Given the description of an element on the screen output the (x, y) to click on. 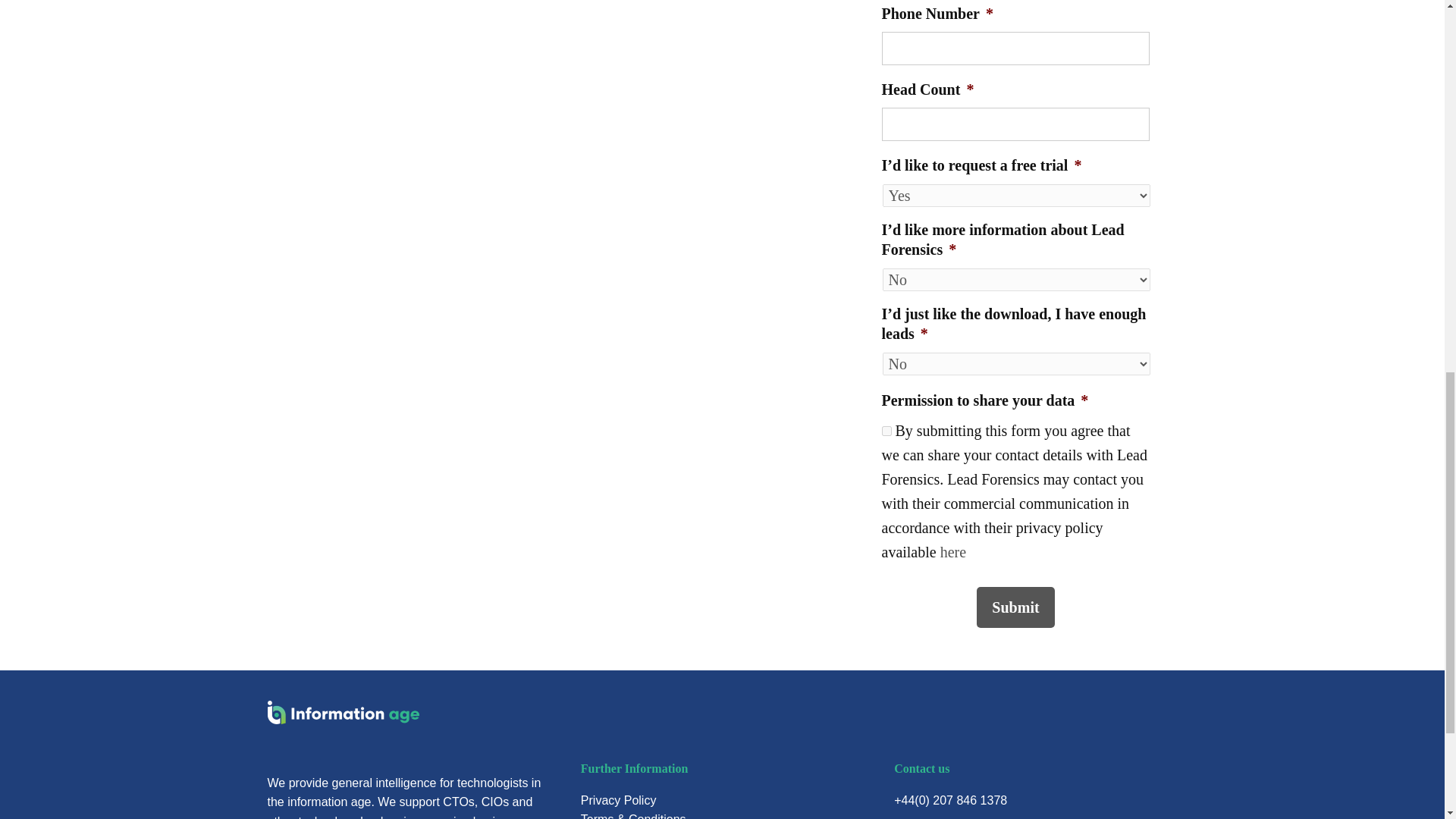
Submit (1015, 607)
3rd party ad content (195, 5)
1 (885, 430)
3rd party ad content (1249, 5)
